Given the description of an element on the screen output the (x, y) to click on. 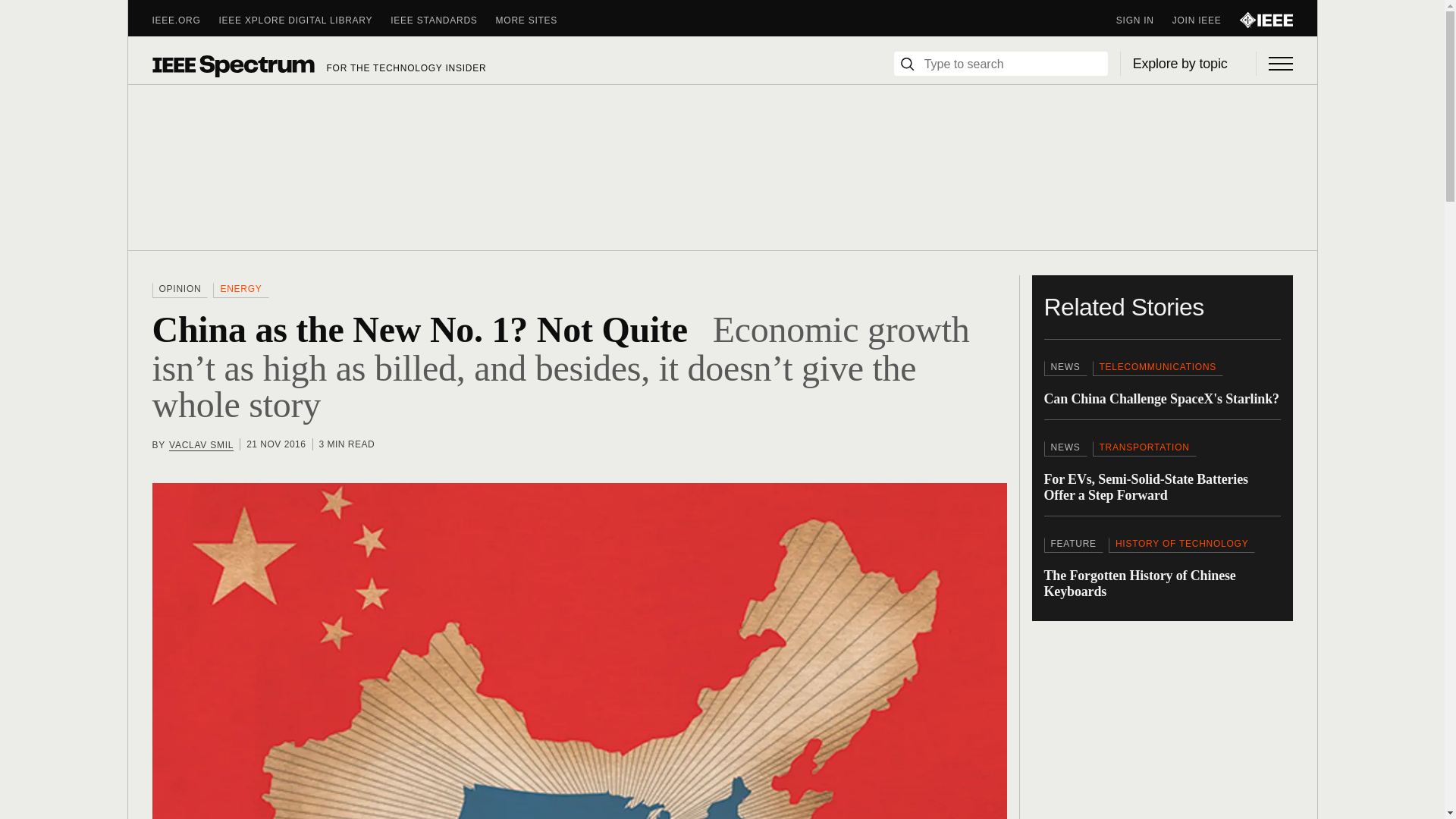
Search (907, 63)
Spectrum Logo (232, 64)
JOIN IEEE (1206, 20)
IEEE XPLORE DIGITAL LIBRARY (305, 20)
MORE SITES (536, 20)
IEEE.ORG (184, 20)
SIGN IN (1144, 20)
IEEE STANDARDS (442, 20)
